Given the description of an element on the screen output the (x, y) to click on. 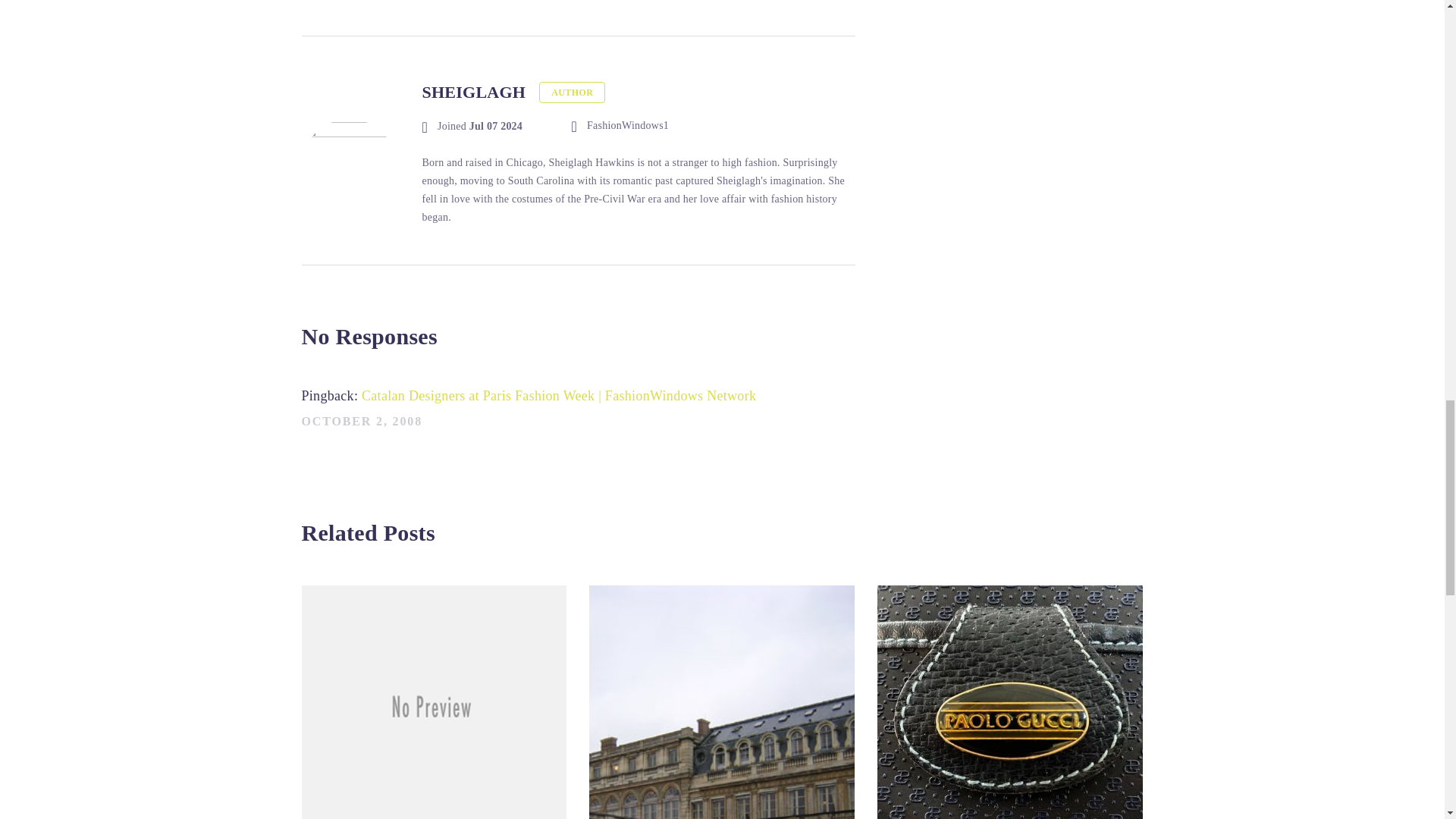
LG Fashion Week Beauty Day 3: Robert Graham Spring 2012 (434, 702)
FashionWindows1 (620, 126)
SHEIGLAGH (473, 92)
